Given the description of an element on the screen output the (x, y) to click on. 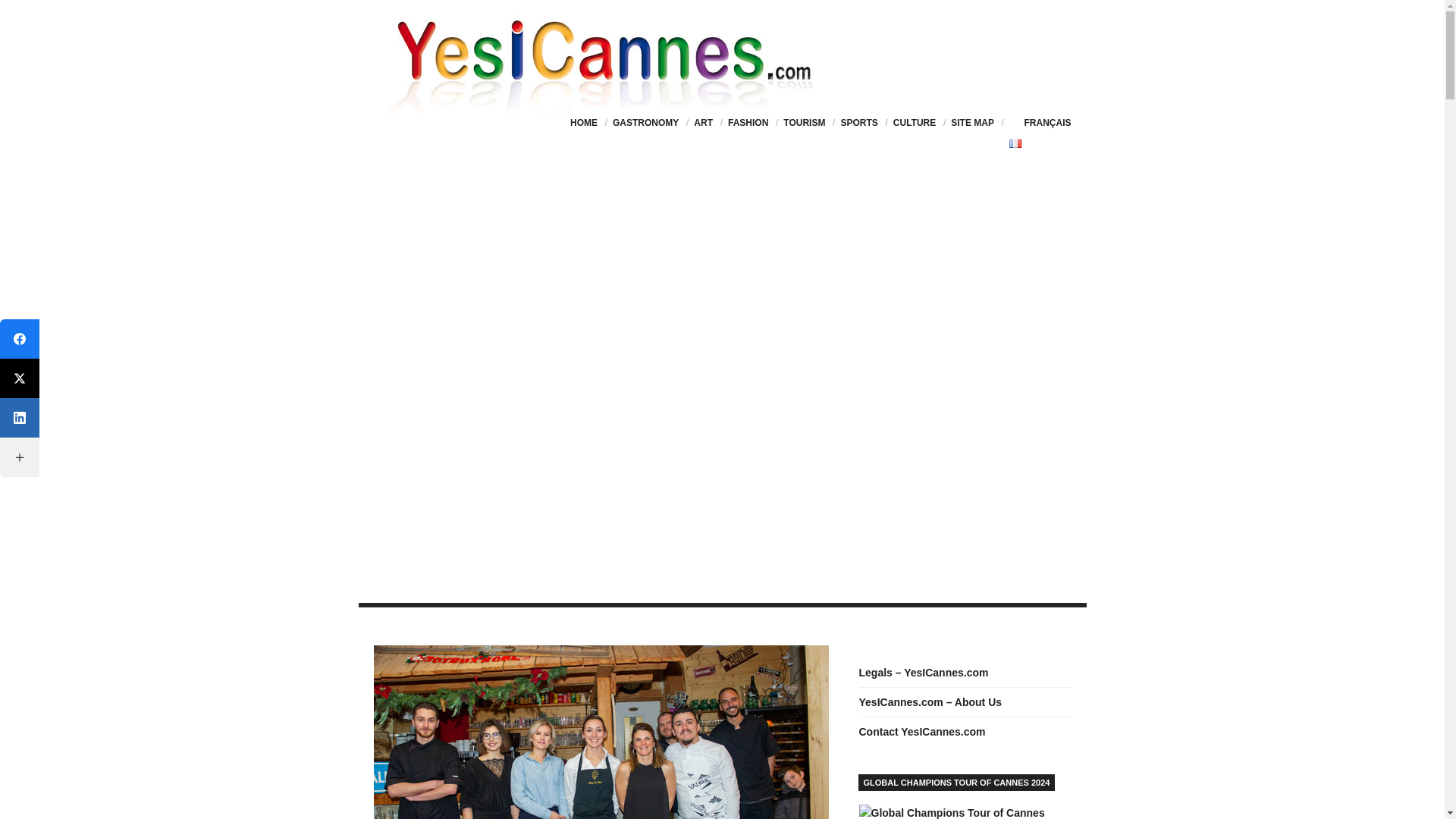
SITE MAP (972, 123)
SPORTS (858, 123)
CULTURE (914, 123)
TOURISM (804, 123)
FASHION (748, 123)
GASTRONOMY (645, 123)
